Given the description of an element on the screen output the (x, y) to click on. 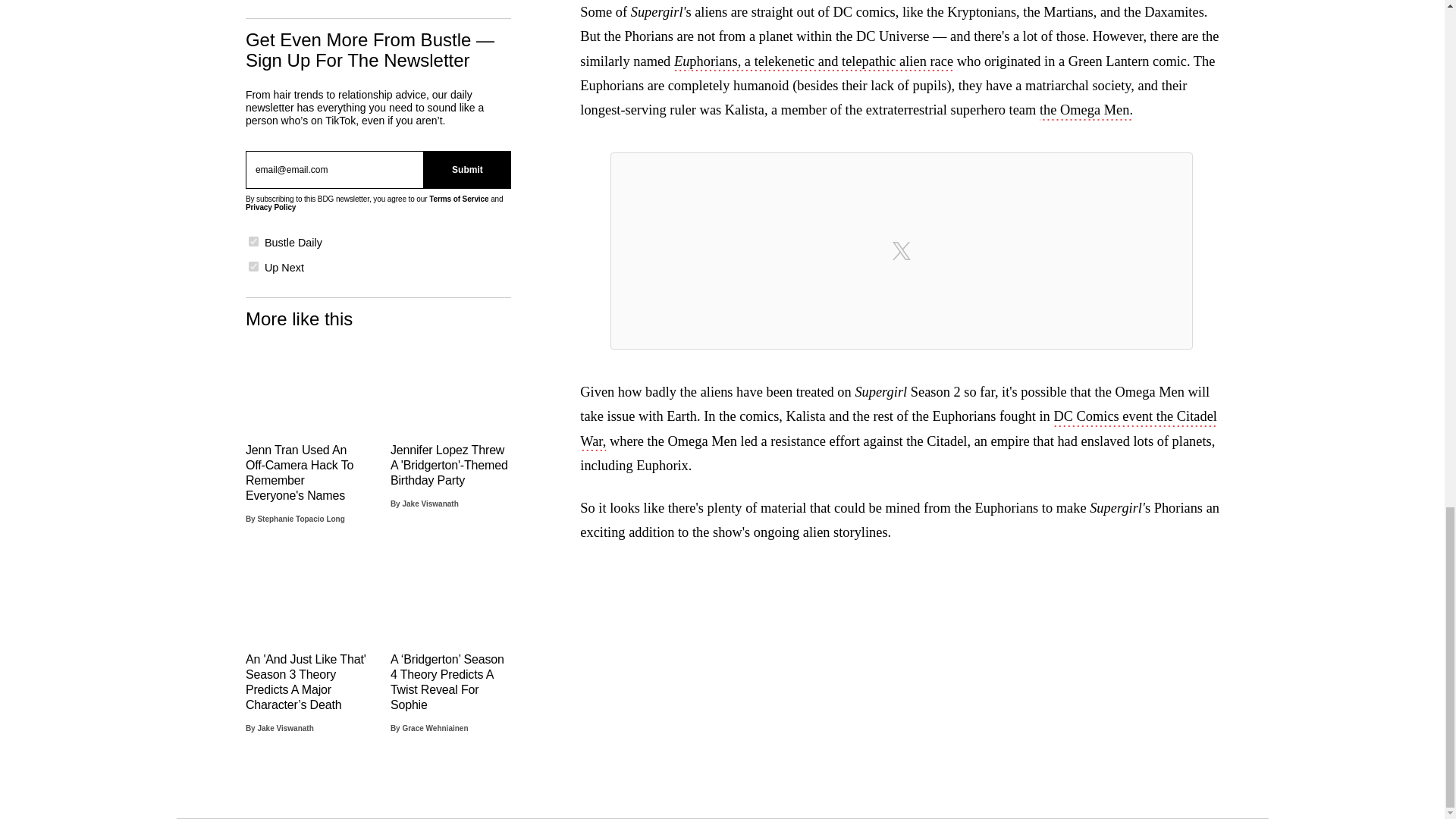
phorians, a telekenetic and telepathic alien race (820, 63)
Terms of Service (458, 198)
DC Comics event the Citadel War, (898, 429)
Privacy Policy (270, 207)
Submit (467, 168)
the Omega Men. (1085, 111)
